Given the description of an element on the screen output the (x, y) to click on. 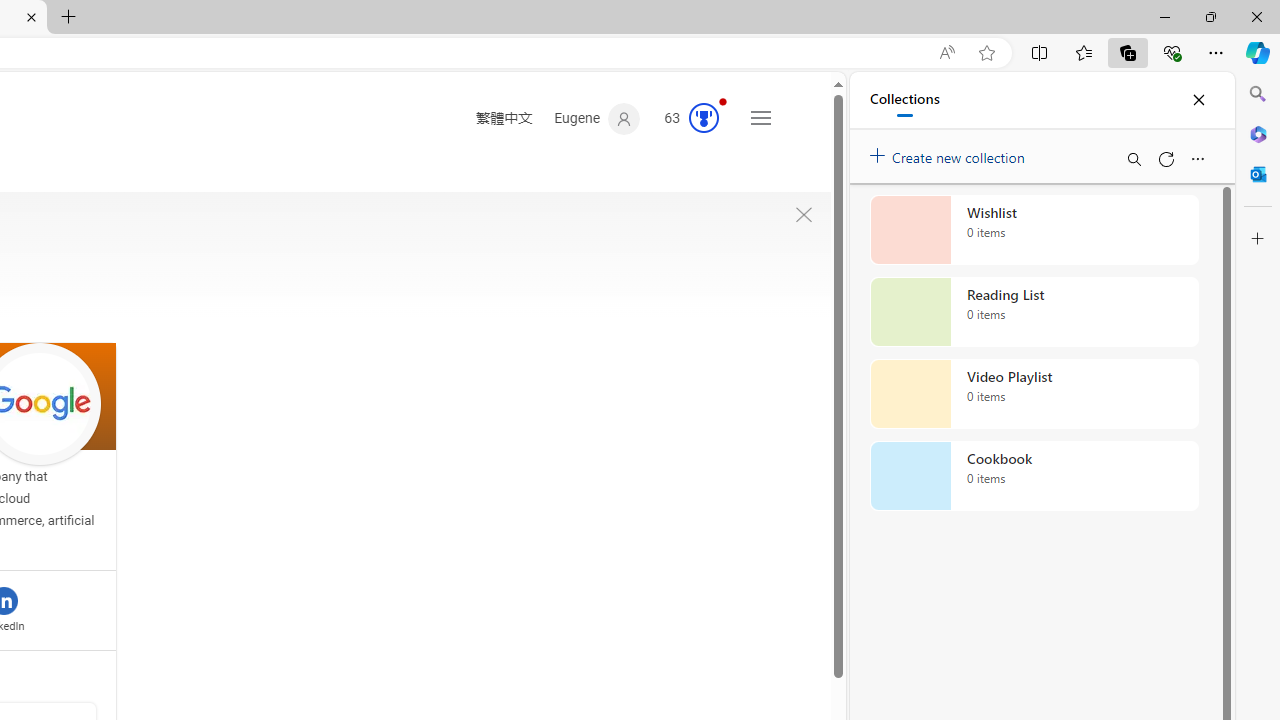
Customize (1258, 239)
To get missing image descriptions, open the context menu. (803, 215)
Outlook (1258, 174)
AutomationID: rh_meter (703, 117)
Video Playlist collection, 0 items (1034, 394)
Create new collection (950, 153)
Wishlist collection, 0 items (1034, 229)
